Given the description of an element on the screen output the (x, y) to click on. 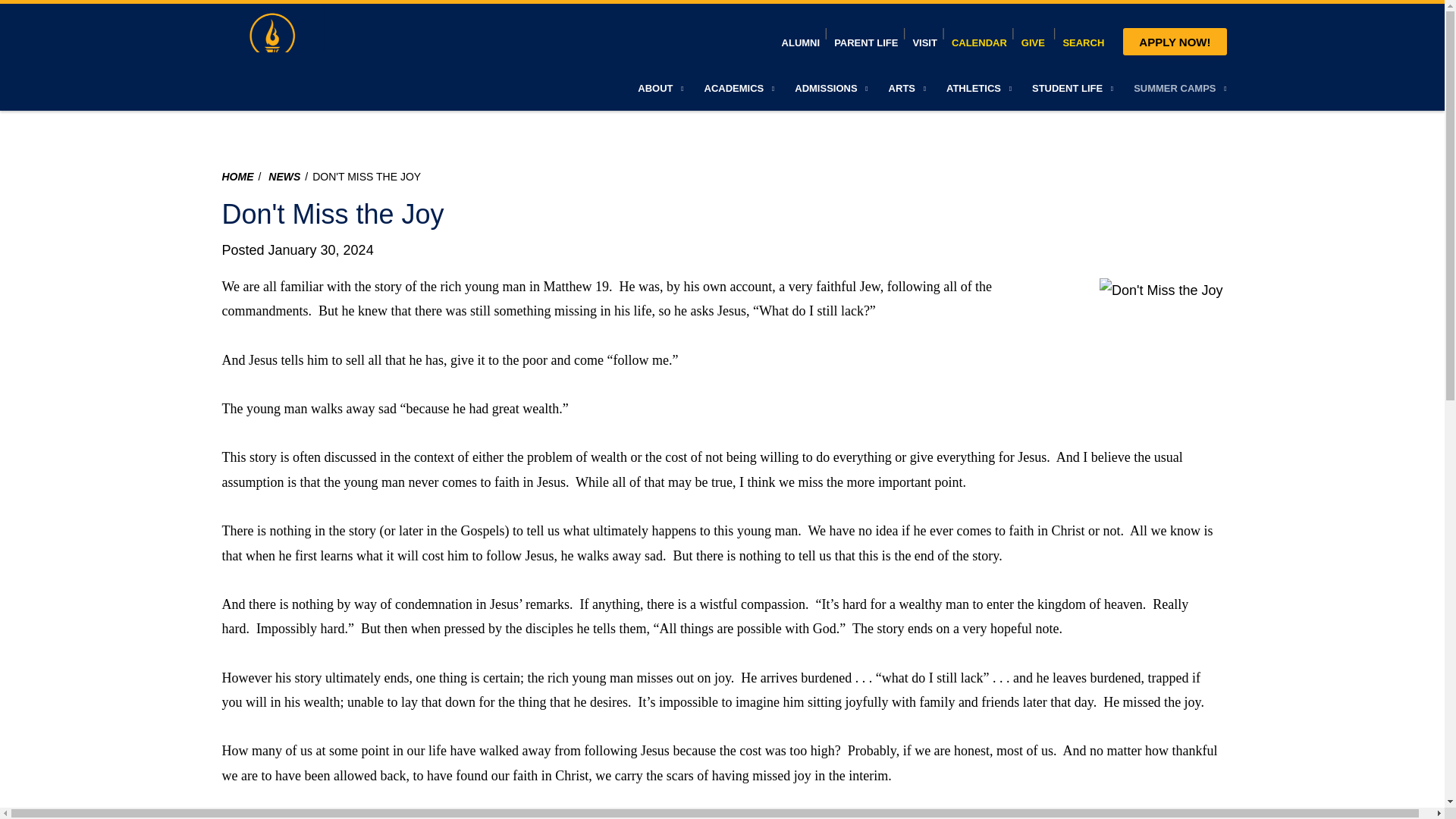
ADMISSIONS (832, 88)
ACADEMICS (740, 88)
ARTS (908, 88)
ABOUT (661, 88)
